Given the description of an element on the screen output the (x, y) to click on. 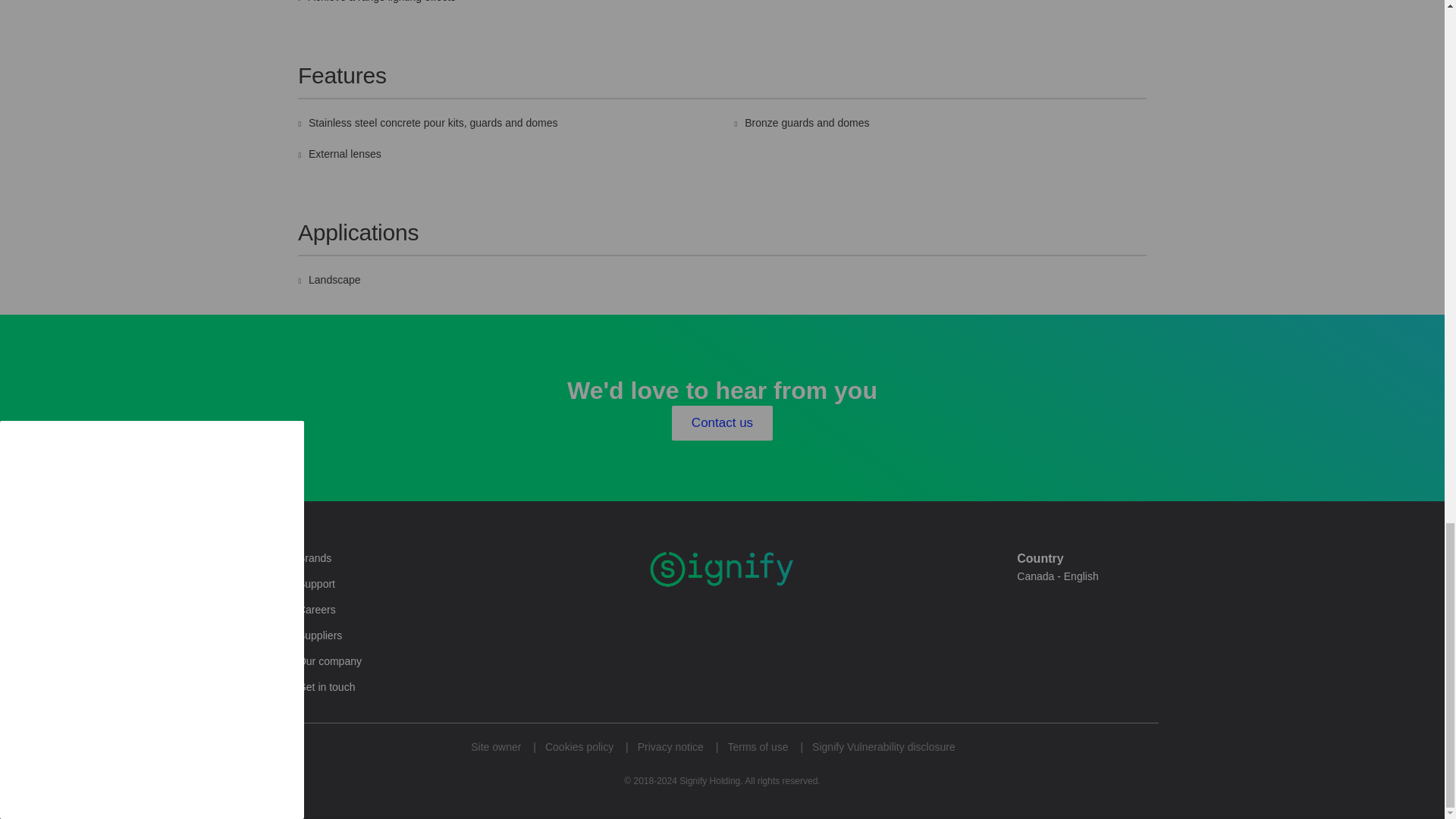
Support (316, 584)
Country (1064, 576)
Our company (329, 661)
Careers (317, 609)
Site owner (495, 747)
Brands (314, 558)
Cookies policy (578, 747)
Suppliers (320, 635)
Terms of use (756, 747)
Privacy notice (670, 747)
